Given the description of an element on the screen output the (x, y) to click on. 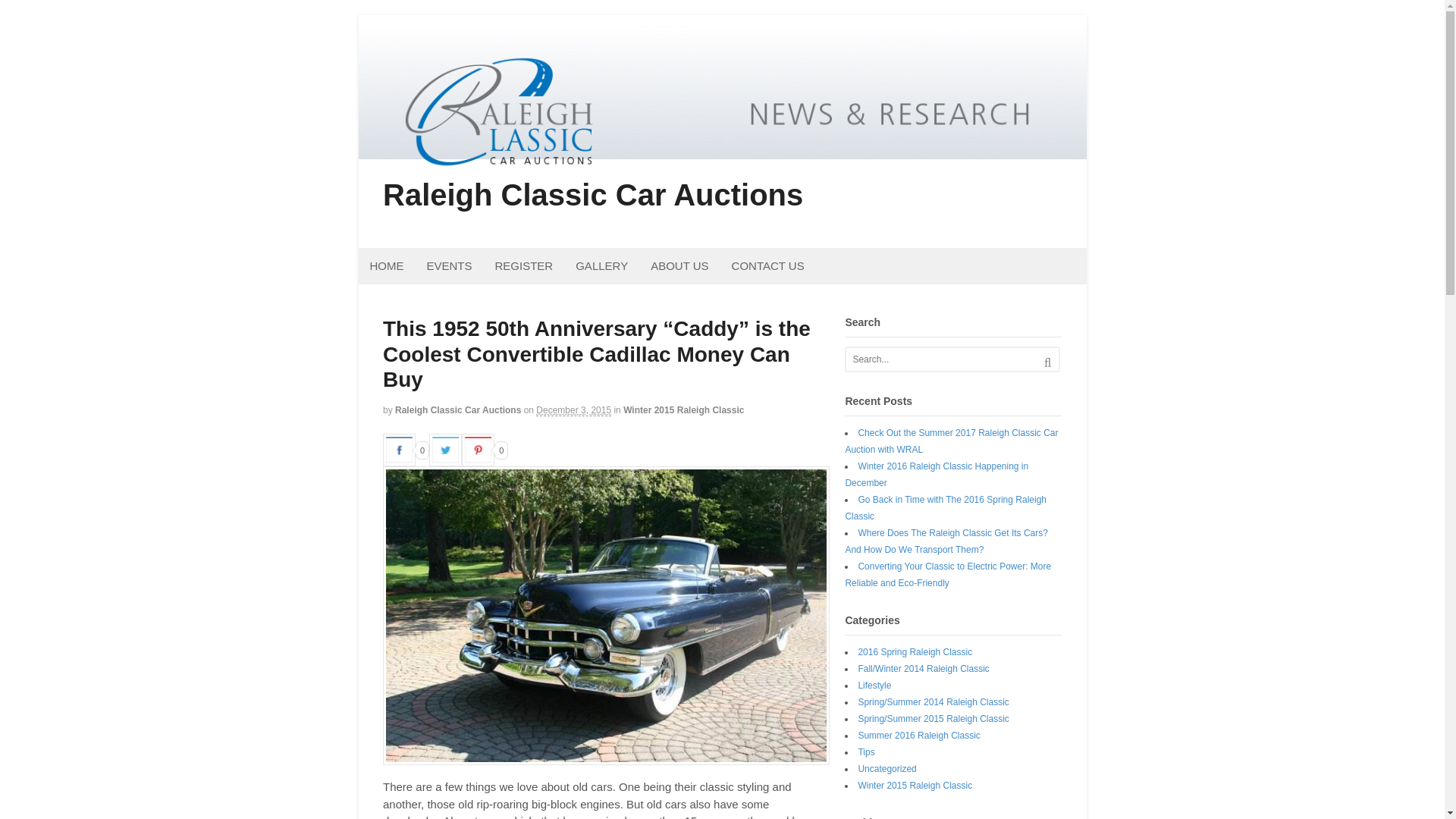
2016 Spring Raleigh Classic (914, 652)
ABOUT US (679, 266)
Gallery (601, 266)
Winter 2015 Raleigh Classic (683, 409)
Posts by Raleigh Classic Car Auctions (457, 409)
About Us (679, 266)
Register (523, 266)
View all items in Winter 2015 Raleigh Classic (683, 409)
